Given the description of an element on the screen output the (x, y) to click on. 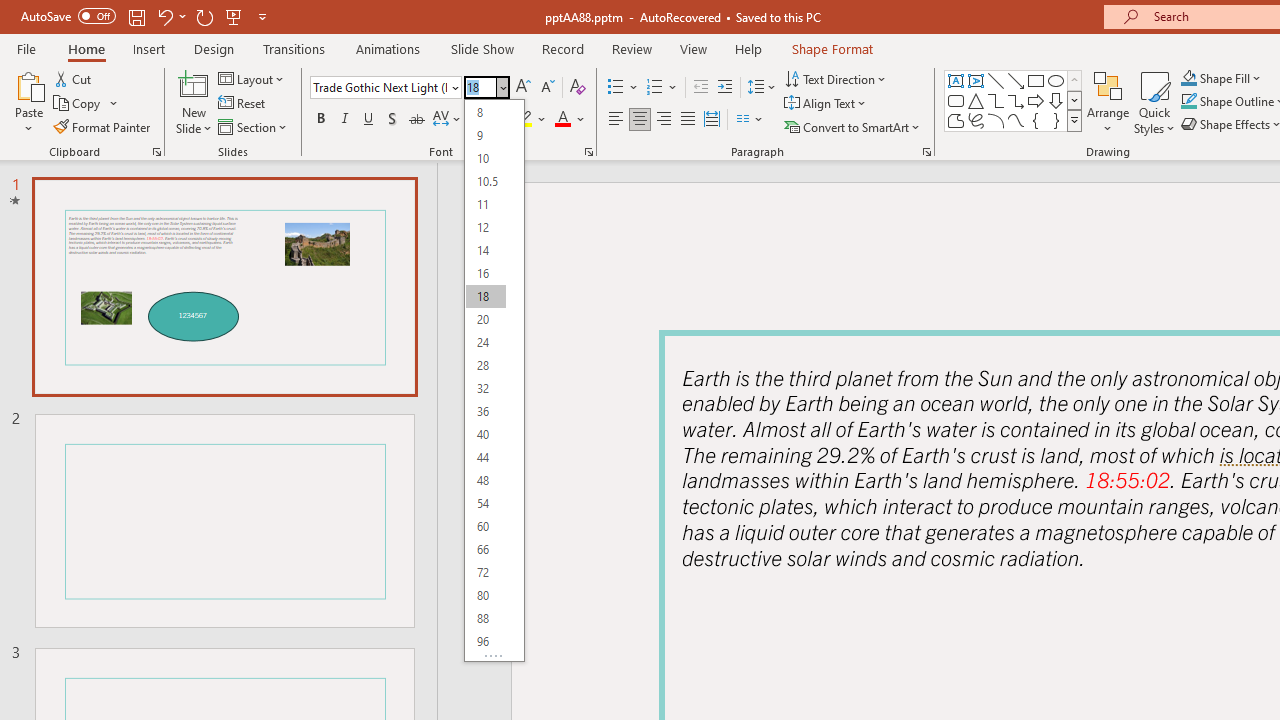
16 (485, 273)
11 (485, 204)
96 (485, 641)
48 (485, 479)
